Given the description of an element on the screen output the (x, y) to click on. 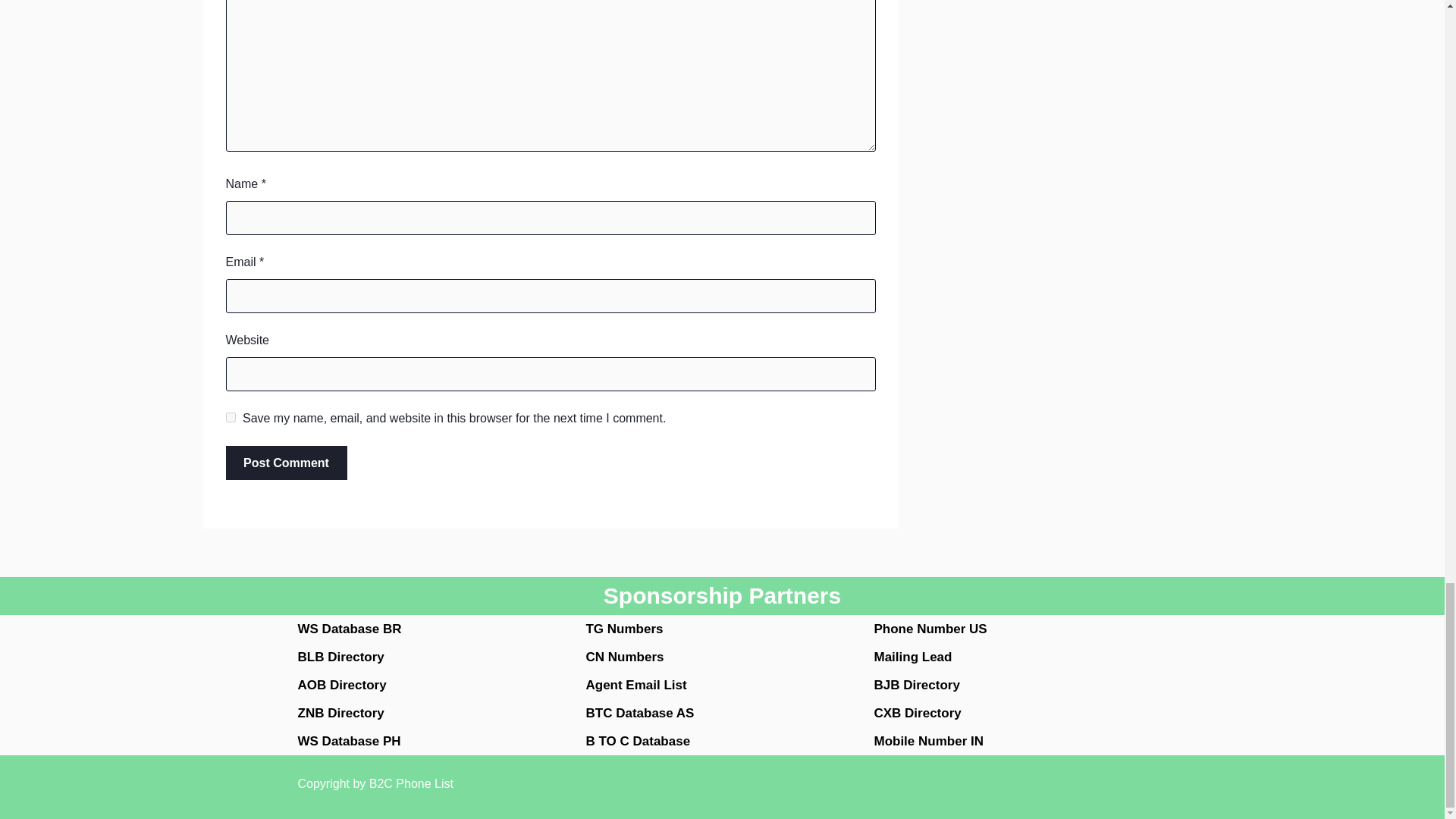
yes (230, 417)
Agent Email List (635, 685)
Post Comment (286, 462)
WS Database PH (348, 740)
WS Database BR (349, 628)
AOB Directory (341, 685)
CN Numbers (624, 657)
TG Numbers (623, 628)
ZNB Directory (340, 712)
Post Comment (286, 462)
BLB Directory (340, 657)
